Given the description of an element on the screen output the (x, y) to click on. 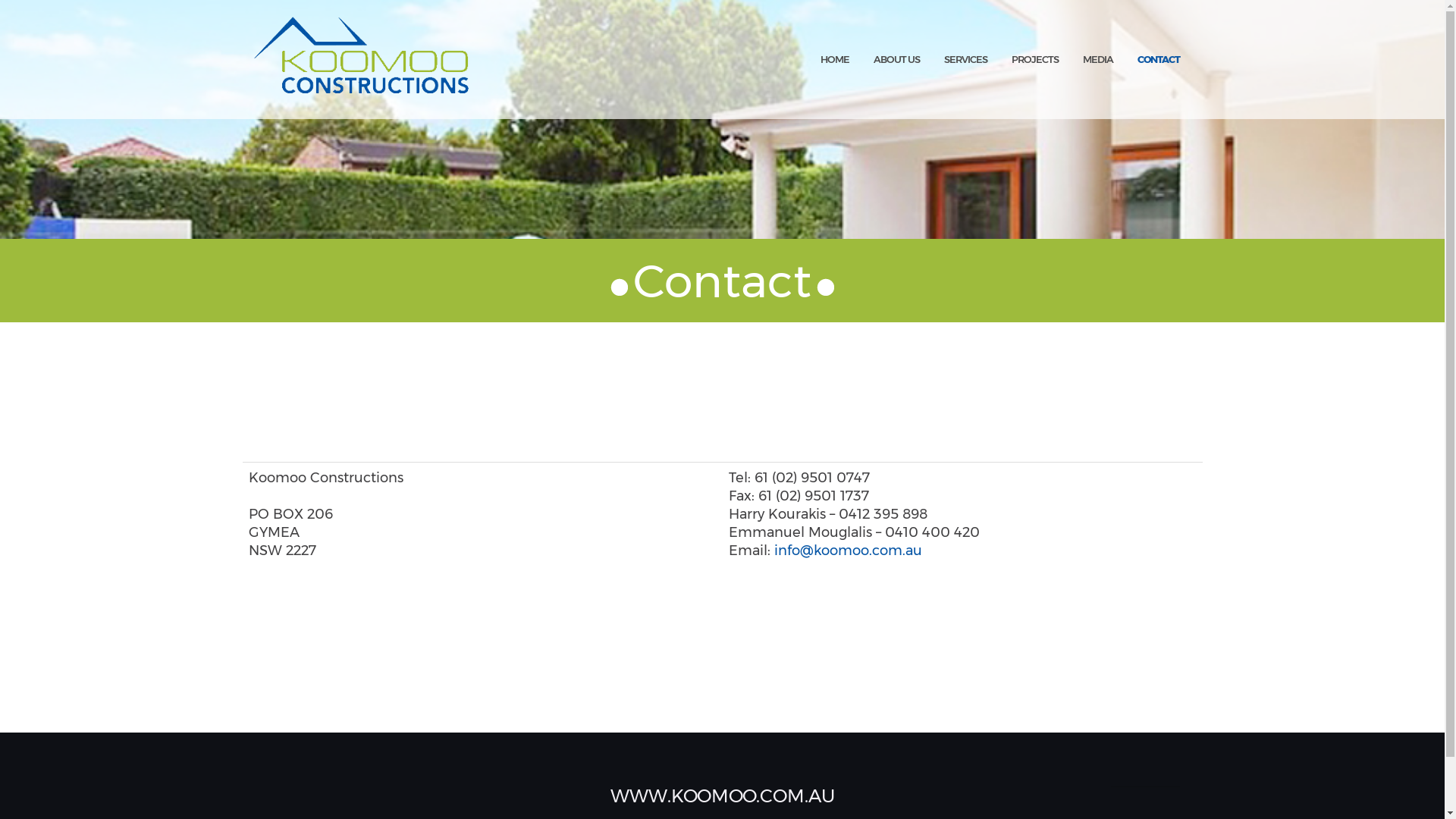
PROJECTS Element type: text (1034, 60)
CONTACT Element type: text (1158, 60)
SERVICES Element type: text (964, 60)
Koomoo Constructions Element type: hover (360, 59)
info@koomoo.com.au Element type: text (847, 550)
HOME Element type: text (834, 60)
ABOUT US Element type: text (896, 60)
MEDIA Element type: text (1097, 60)
